Given the description of an element on the screen output the (x, y) to click on. 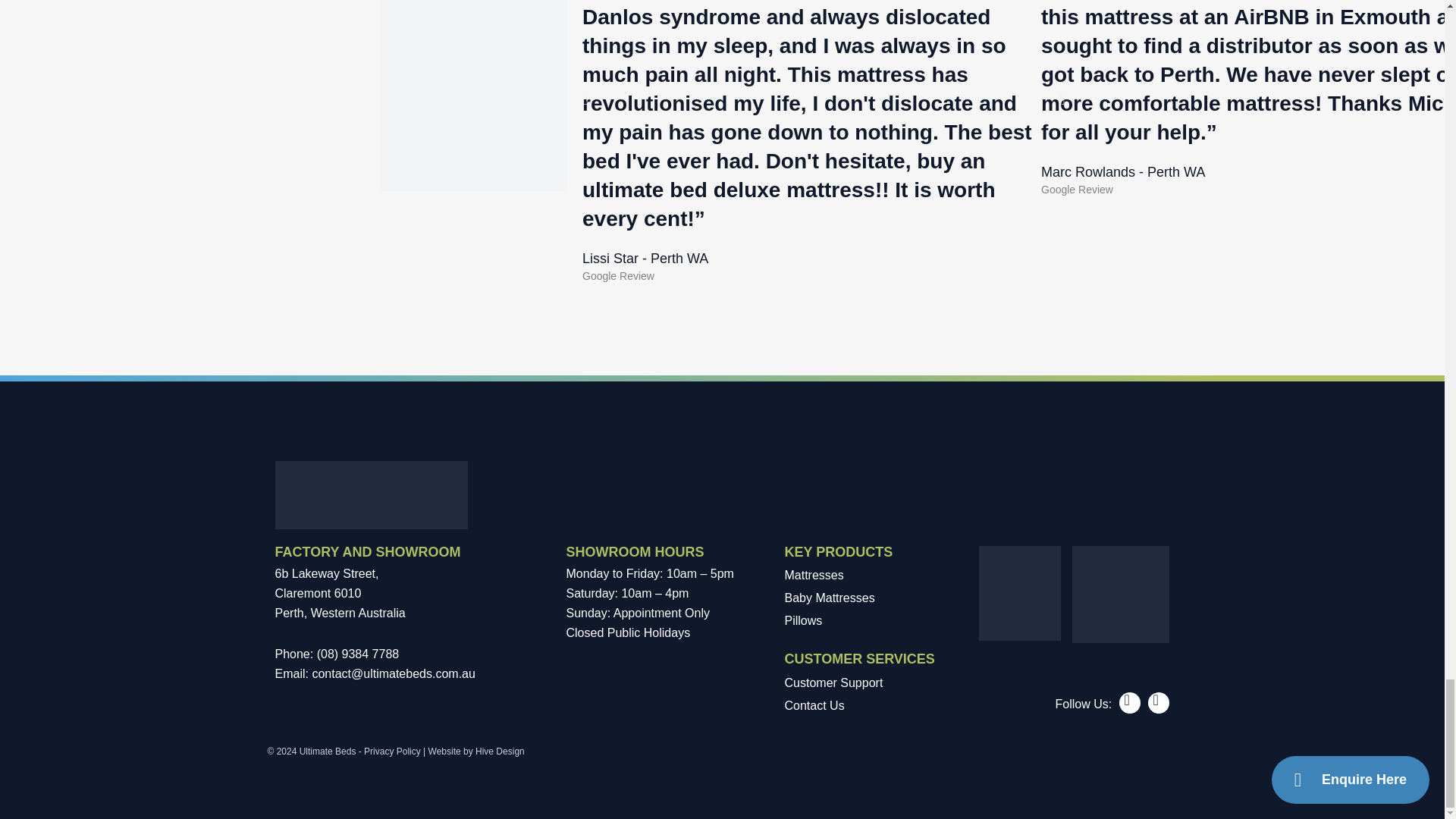
Pillows (863, 620)
Mattresses (863, 575)
Baby Mattresses (863, 598)
